Given the description of an element on the screen output the (x, y) to click on. 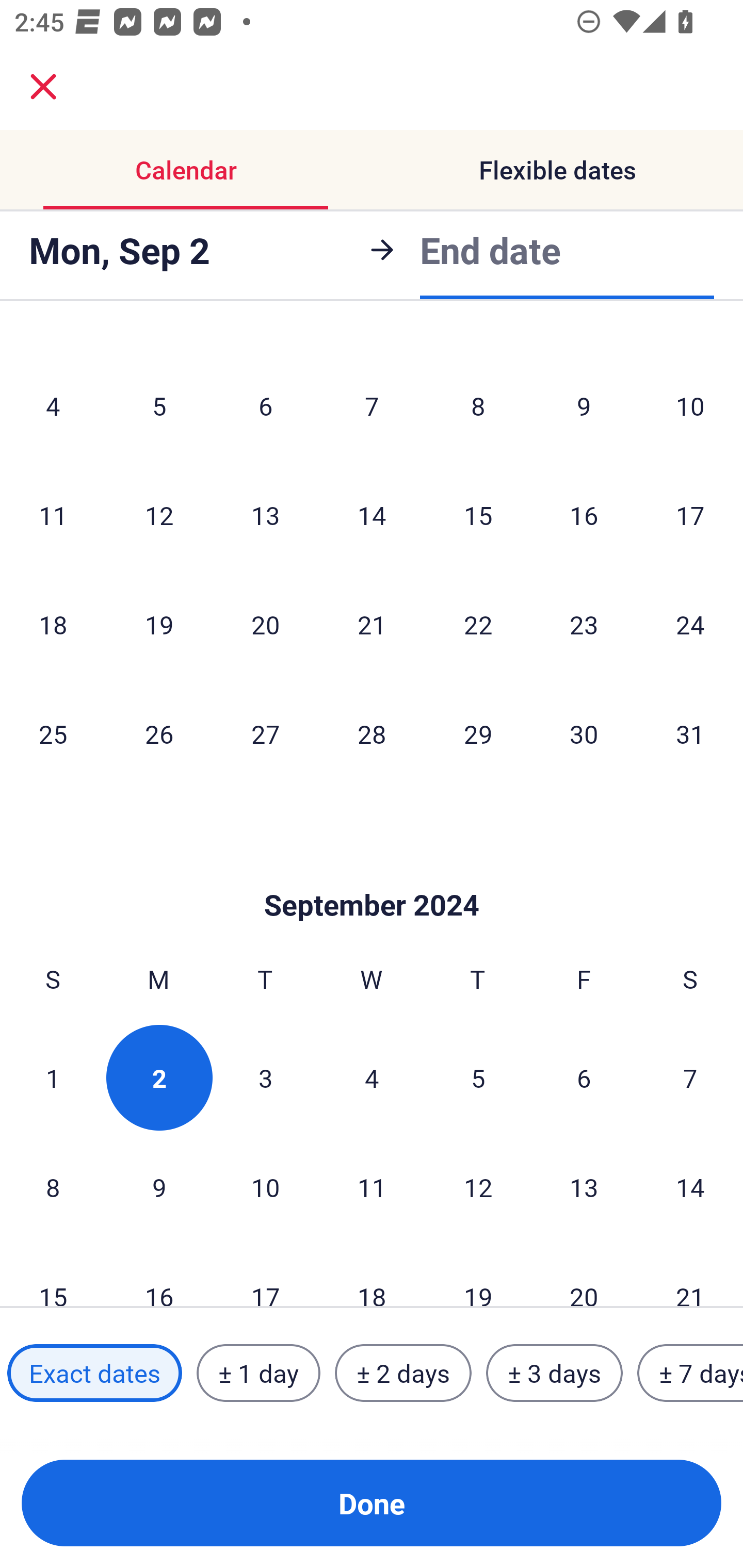
close. (43, 86)
Flexible dates (557, 170)
End date (489, 249)
4 Sunday, August 4, 2024 (53, 404)
5 Monday, August 5, 2024 (159, 404)
6 Tuesday, August 6, 2024 (265, 404)
7 Wednesday, August 7, 2024 (371, 404)
8 Thursday, August 8, 2024 (477, 404)
9 Friday, August 9, 2024 (584, 404)
10 Saturday, August 10, 2024 (690, 404)
11 Sunday, August 11, 2024 (53, 514)
12 Monday, August 12, 2024 (159, 514)
13 Tuesday, August 13, 2024 (265, 514)
14 Wednesday, August 14, 2024 (371, 514)
15 Thursday, August 15, 2024 (477, 514)
16 Friday, August 16, 2024 (584, 514)
17 Saturday, August 17, 2024 (690, 514)
18 Sunday, August 18, 2024 (53, 623)
19 Monday, August 19, 2024 (159, 623)
20 Tuesday, August 20, 2024 (265, 623)
21 Wednesday, August 21, 2024 (371, 623)
22 Thursday, August 22, 2024 (477, 623)
23 Friday, August 23, 2024 (584, 623)
24 Saturday, August 24, 2024 (690, 623)
25 Sunday, August 25, 2024 (53, 733)
26 Monday, August 26, 2024 (159, 733)
27 Tuesday, August 27, 2024 (265, 733)
28 Wednesday, August 28, 2024 (371, 733)
29 Thursday, August 29, 2024 (477, 733)
30 Friday, August 30, 2024 (584, 733)
31 Saturday, August 31, 2024 (690, 733)
Skip to Done (371, 874)
1 Sunday, September 1, 2024 (53, 1077)
3 Tuesday, September 3, 2024 (265, 1077)
4 Wednesday, September 4, 2024 (371, 1077)
5 Thursday, September 5, 2024 (477, 1077)
6 Friday, September 6, 2024 (584, 1077)
7 Saturday, September 7, 2024 (690, 1077)
8 Sunday, September 8, 2024 (53, 1186)
9 Monday, September 9, 2024 (159, 1186)
10 Tuesday, September 10, 2024 (265, 1186)
11 Wednesday, September 11, 2024 (371, 1186)
12 Thursday, September 12, 2024 (477, 1186)
13 Friday, September 13, 2024 (584, 1186)
14 Saturday, September 14, 2024 (690, 1186)
15 Sunday, September 15, 2024 (53, 1274)
16 Monday, September 16, 2024 (159, 1274)
17 Tuesday, September 17, 2024 (265, 1274)
18 Wednesday, September 18, 2024 (371, 1274)
19 Thursday, September 19, 2024 (477, 1274)
20 Friday, September 20, 2024 (584, 1274)
21 Saturday, September 21, 2024 (690, 1274)
Exact dates (94, 1372)
± 1 day (258, 1372)
± 2 days (403, 1372)
± 3 days (553, 1372)
± 7 days (690, 1372)
Done (371, 1502)
